Given the description of an element on the screen output the (x, y) to click on. 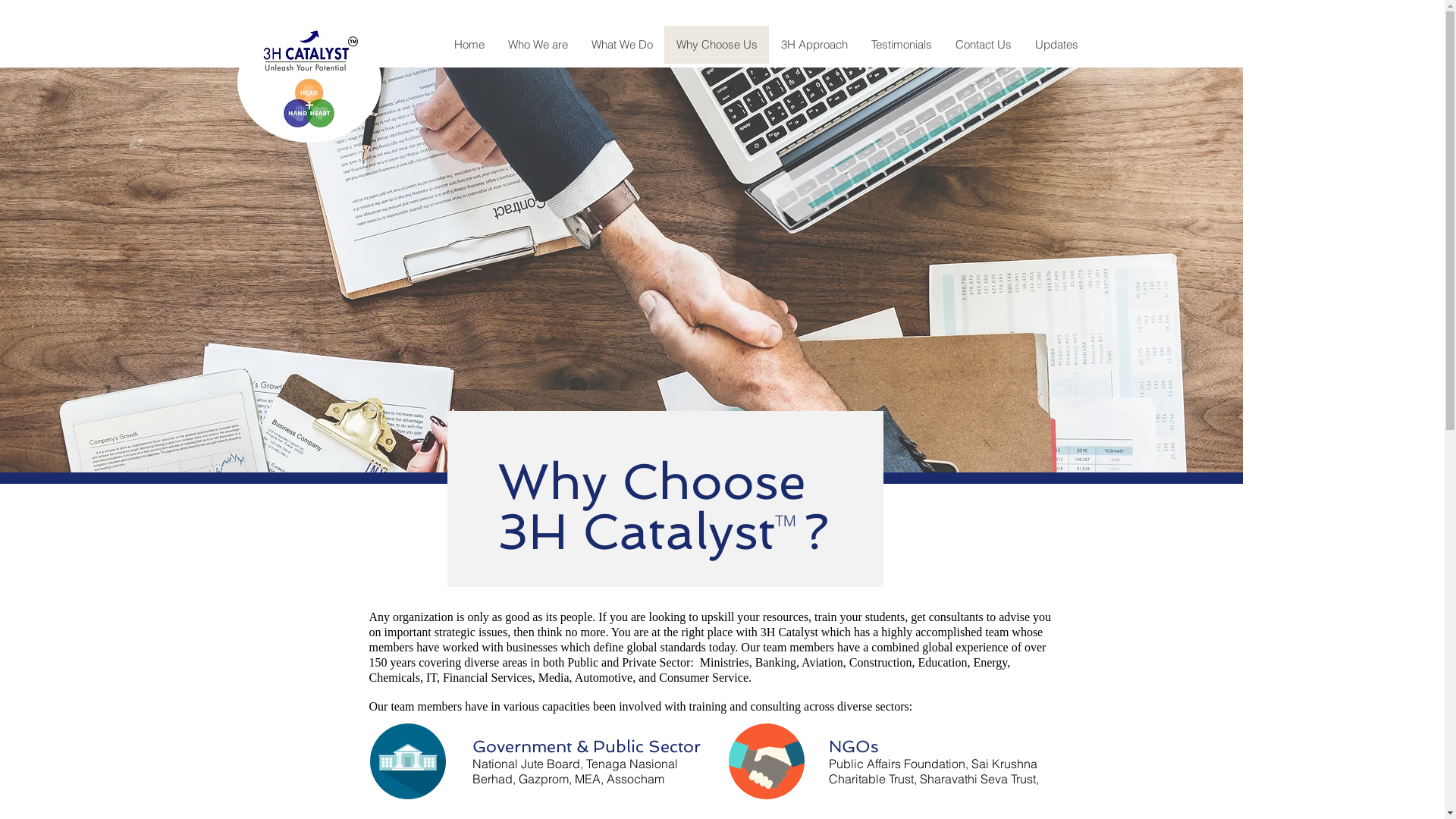
Testimonials Element type: text (900, 44)
Home Element type: text (468, 44)
Who We are Element type: text (537, 44)
Why Choose Us Element type: text (716, 44)
What We Do Element type: text (621, 44)
3H Approach Element type: text (813, 44)
Updates Element type: text (1055, 44)
Contact Us Element type: text (982, 44)
